Given the description of an element on the screen output the (x, y) to click on. 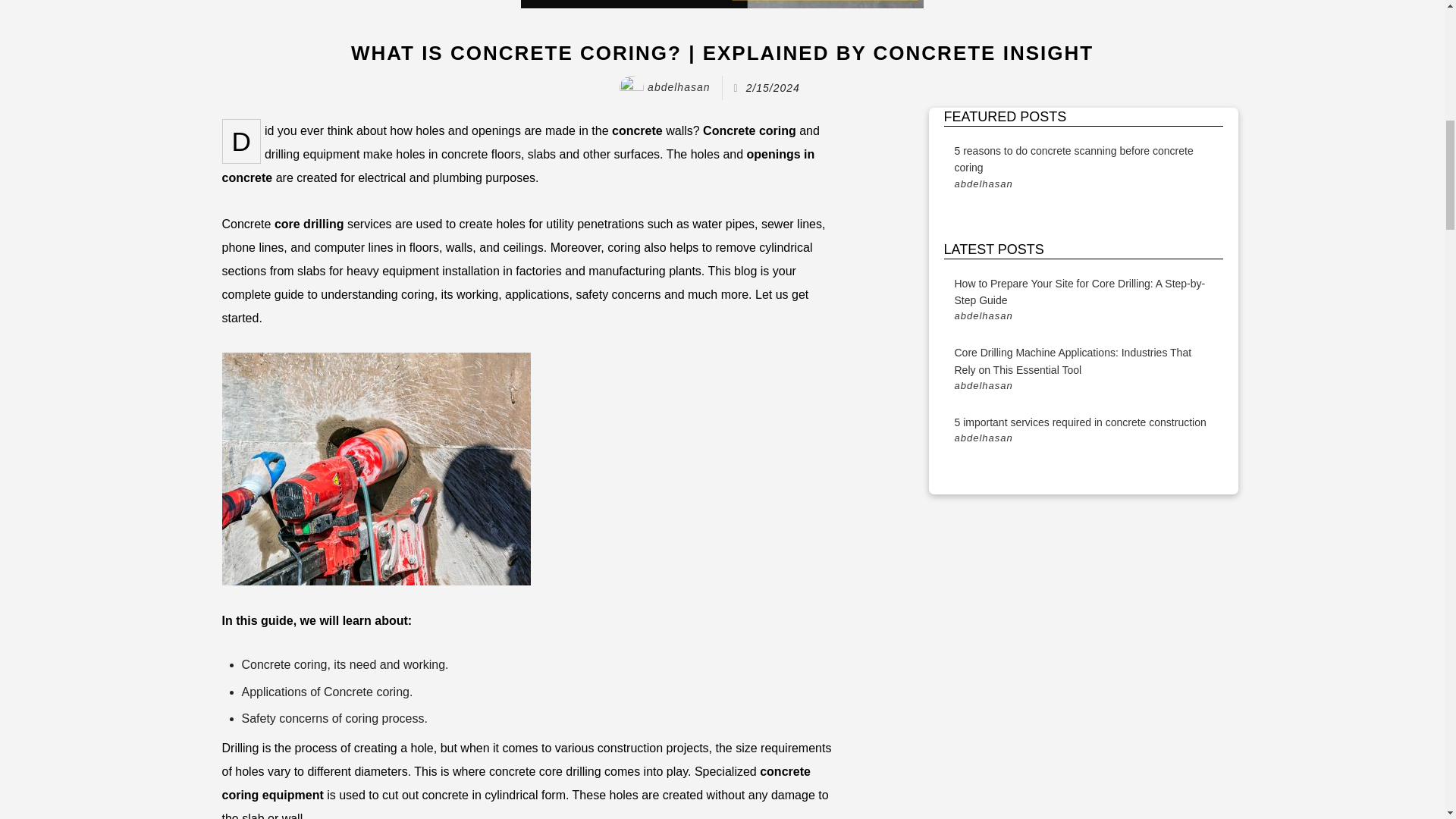
core drilling (309, 223)
Concrete coring (749, 130)
openings in concrete (517, 166)
concrete (636, 130)
abdelhasan (665, 87)
